Given the description of an element on the screen output the (x, y) to click on. 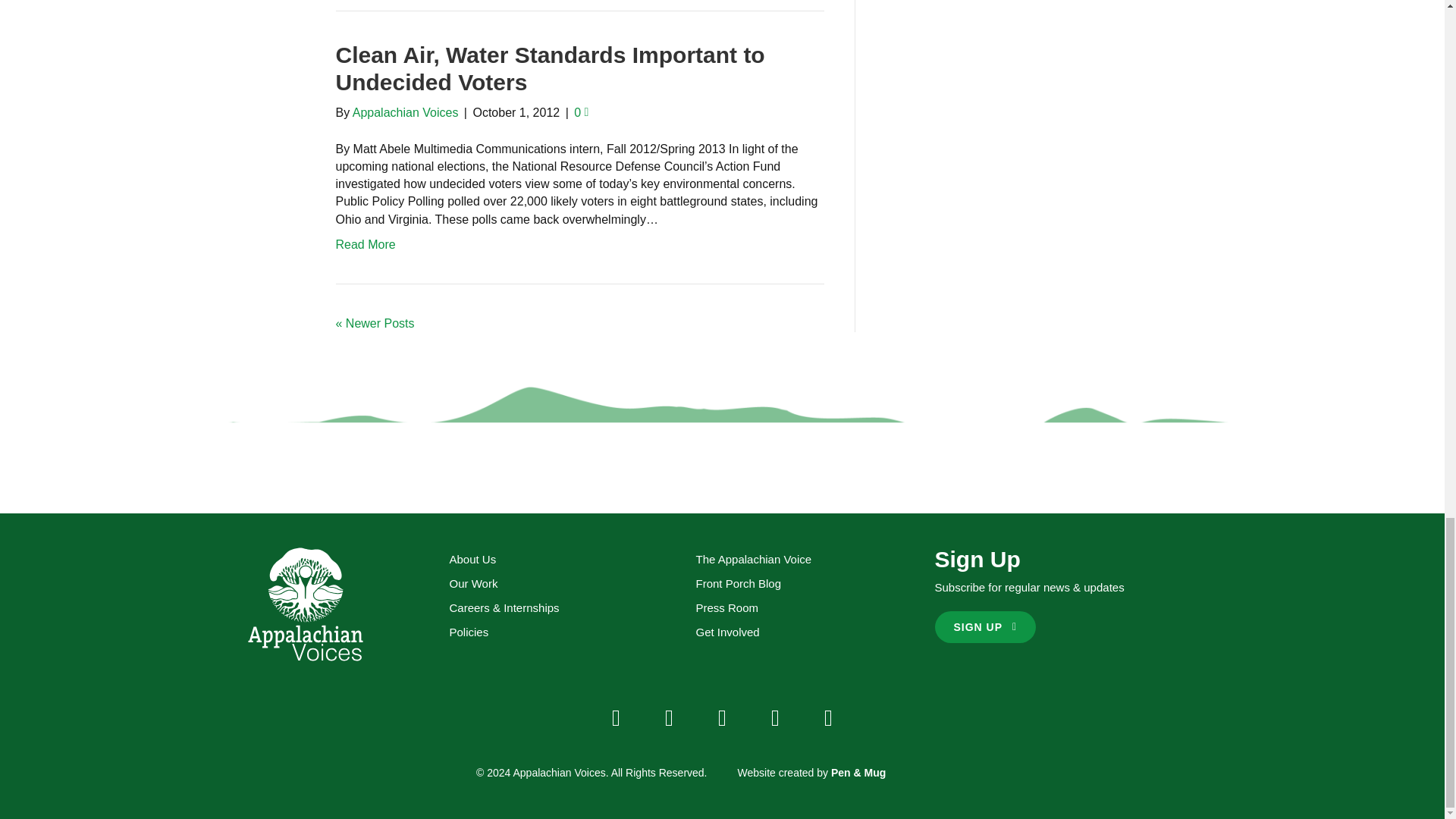
Instagram (721, 718)
YouTube (774, 718)
AppVoices-logo-stacked-white (304, 604)
Facebook (615, 718)
Clean Air, Water Standards Important to Undecided Voters (549, 68)
LinkedIn (827, 718)
